Given the description of an element on the screen output the (x, y) to click on. 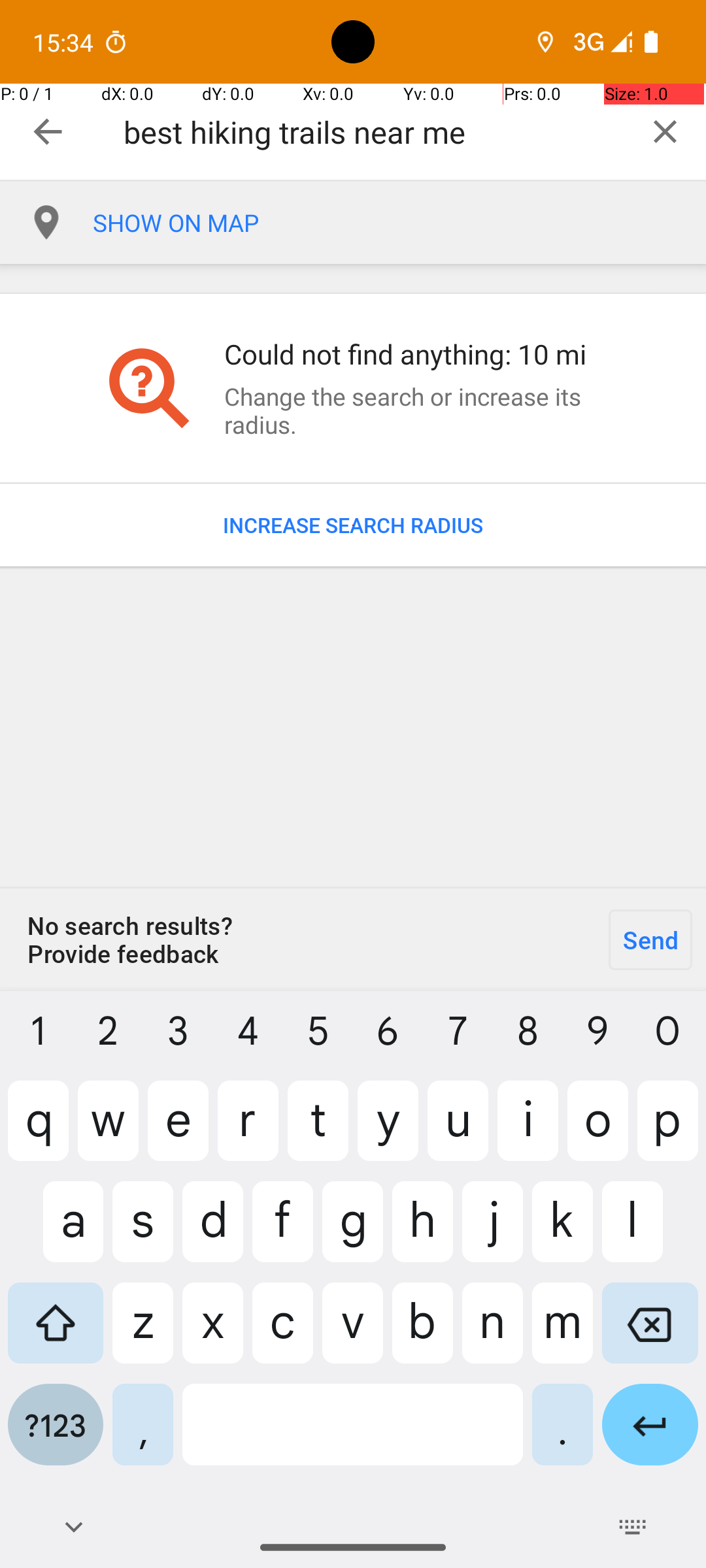
No search results?
Provide feedback Element type: android.widget.TextView (297, 939)
best hiking trails near me Element type: android.widget.EditText (373, 131)
SHOW ON MAP Element type: android.widget.TextView (399, 222)
Could not find anything: 10 mi Element type: android.widget.TextView (414, 353)
Change the search or increase its radius. Element type: android.widget.TextView (414, 410)
INCREASE SEARCH RADIUS Element type: android.widget.TextView (352, 524)
